Given the description of an element on the screen output the (x, y) to click on. 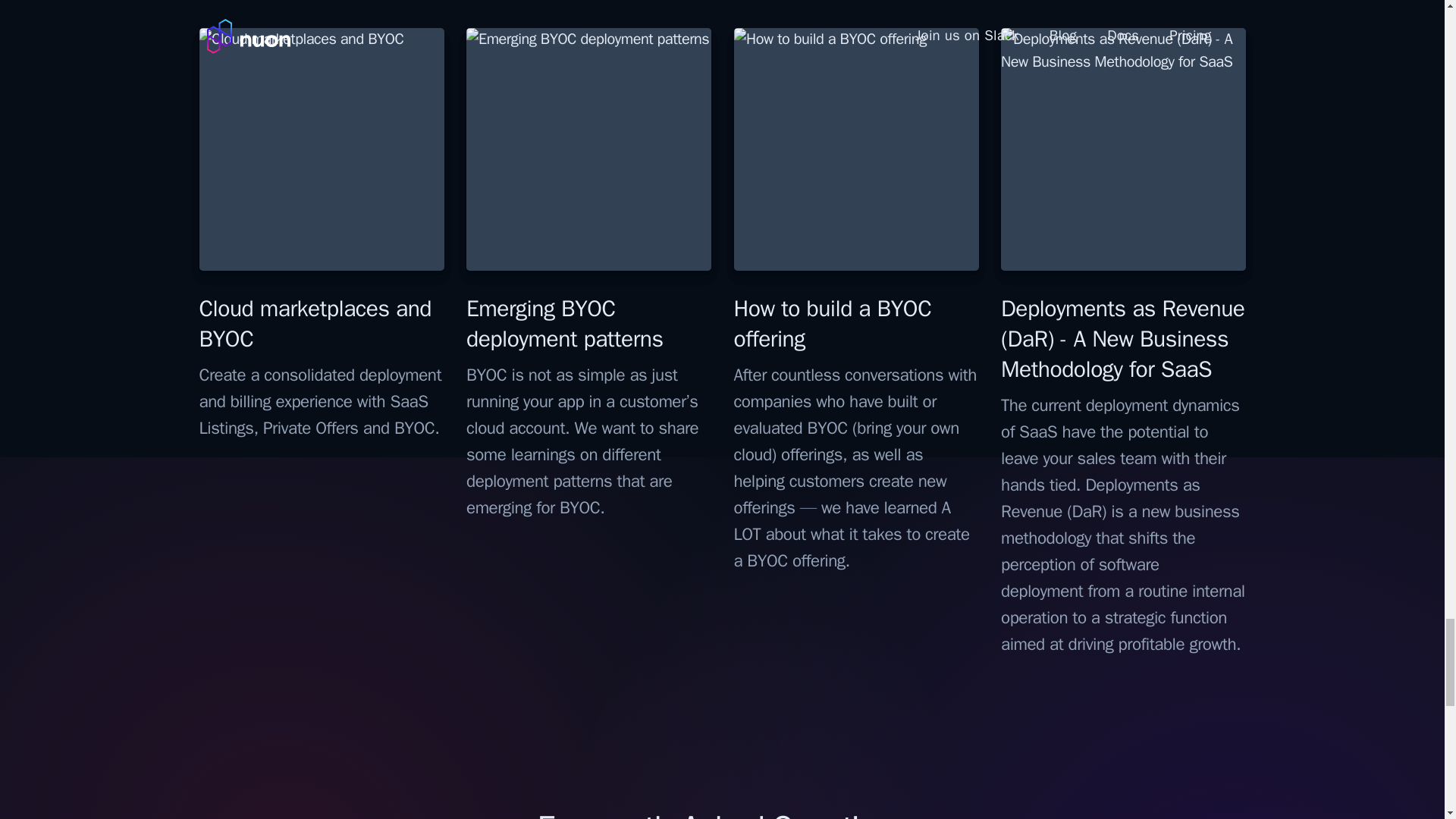
Cloud marketplaces and BYOC (314, 323)
Emerging BYOC deployment patterns (563, 323)
How to build a BYOC offering (832, 323)
